Given the description of an element on the screen output the (x, y) to click on. 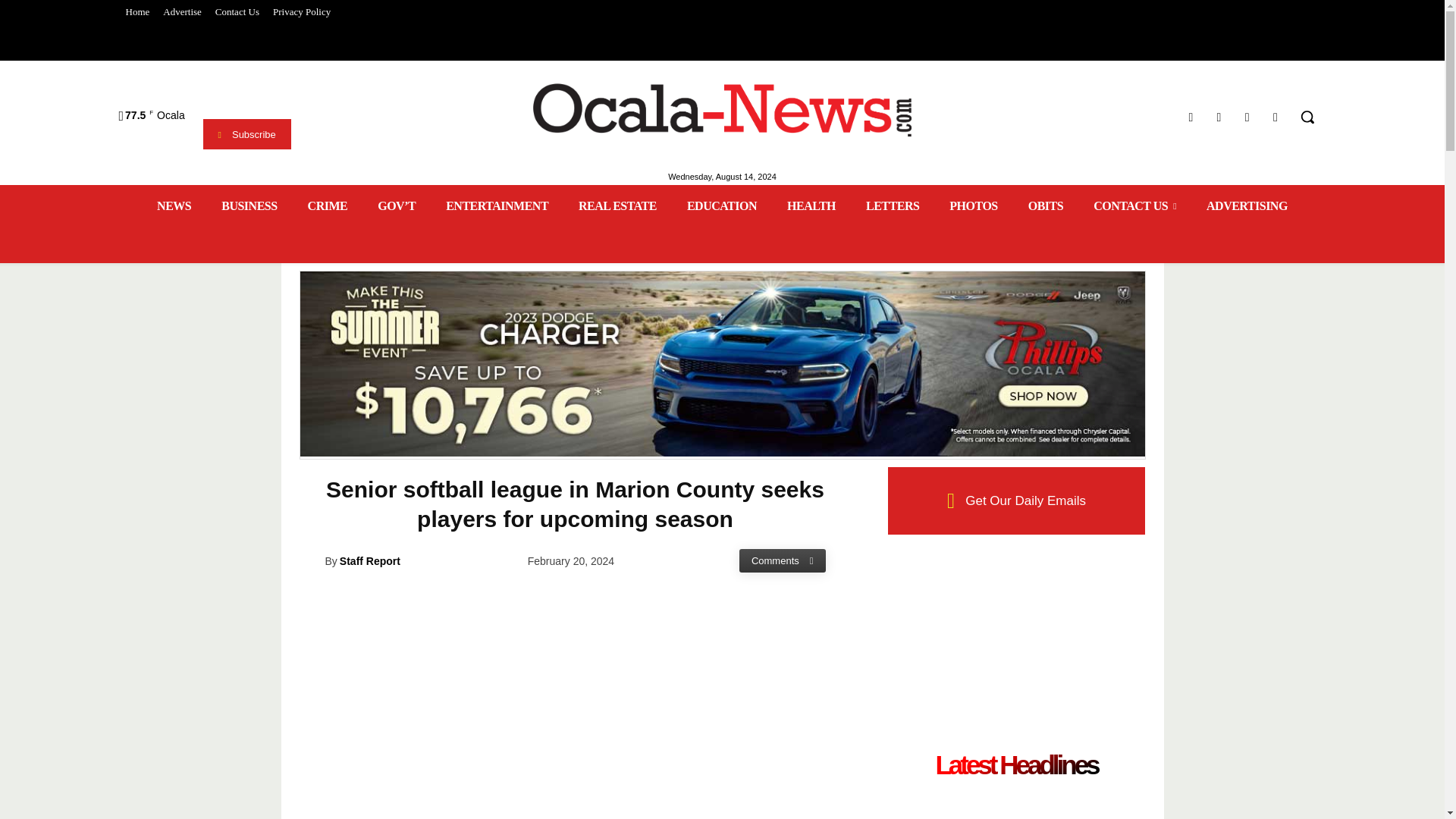
Facebook (1190, 117)
Ocala-News.com (721, 109)
Subscribe (247, 133)
Twitter (1246, 117)
Youtube (1275, 117)
Instagram (1218, 117)
